Given the description of an element on the screen output the (x, y) to click on. 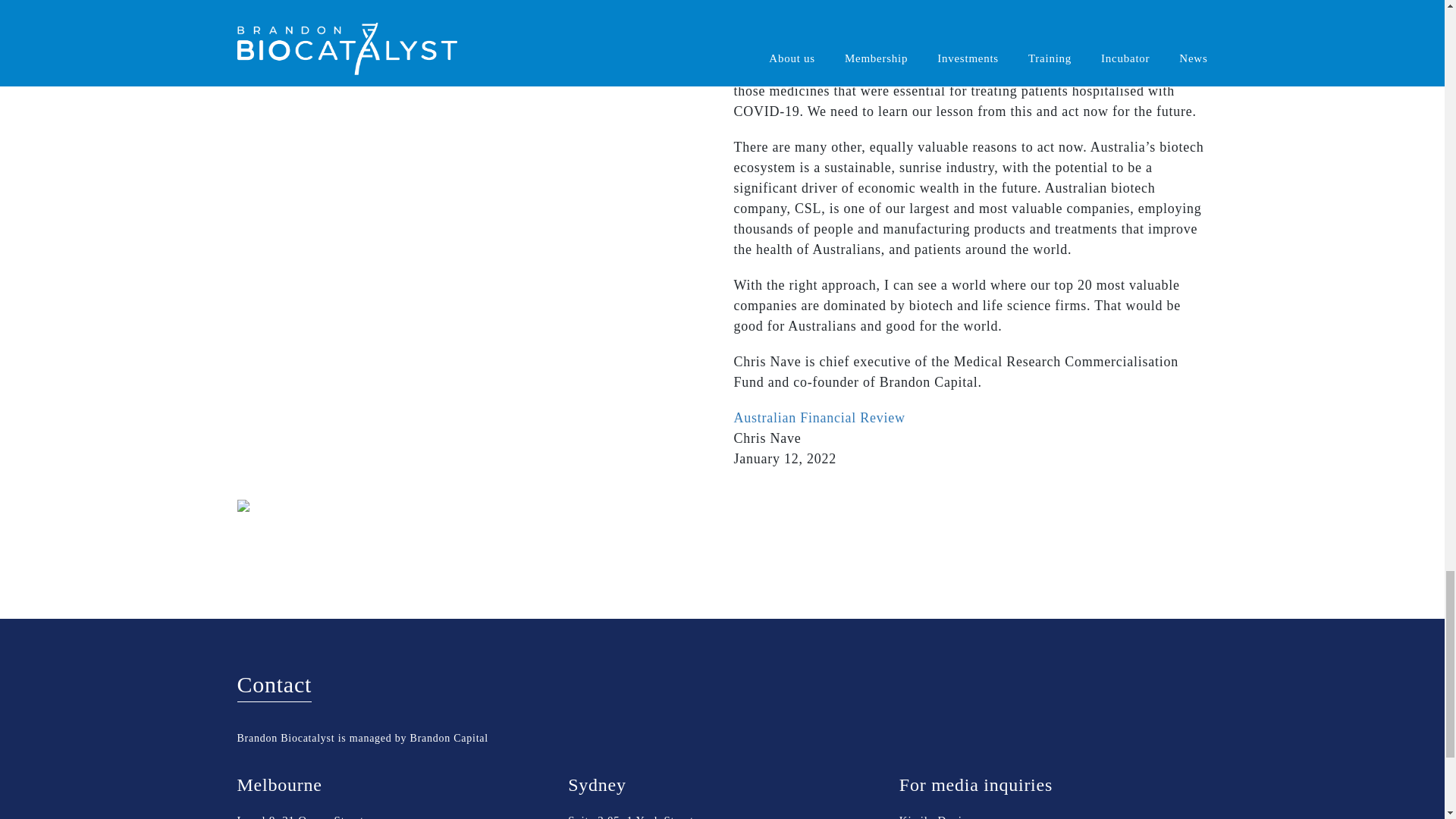
Australian Financial Review (819, 417)
